Given the description of an element on the screen output the (x, y) to click on. 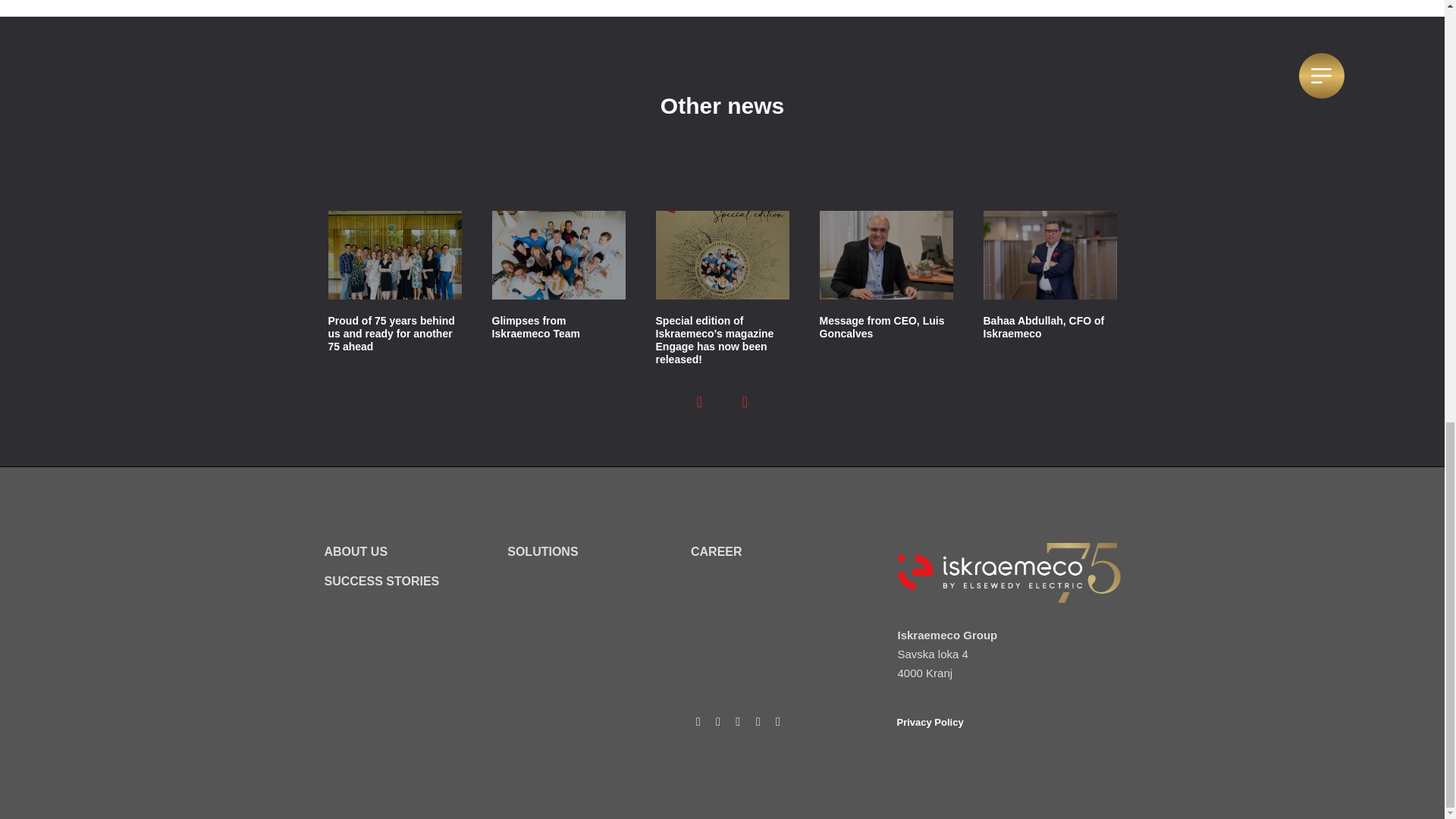
CAREER (716, 551)
SUCCESS STORIES (381, 581)
Privacy Policy (929, 722)
ABOUT US (356, 551)
SOLUTIONS (542, 551)
